Given the description of an element on the screen output the (x, y) to click on. 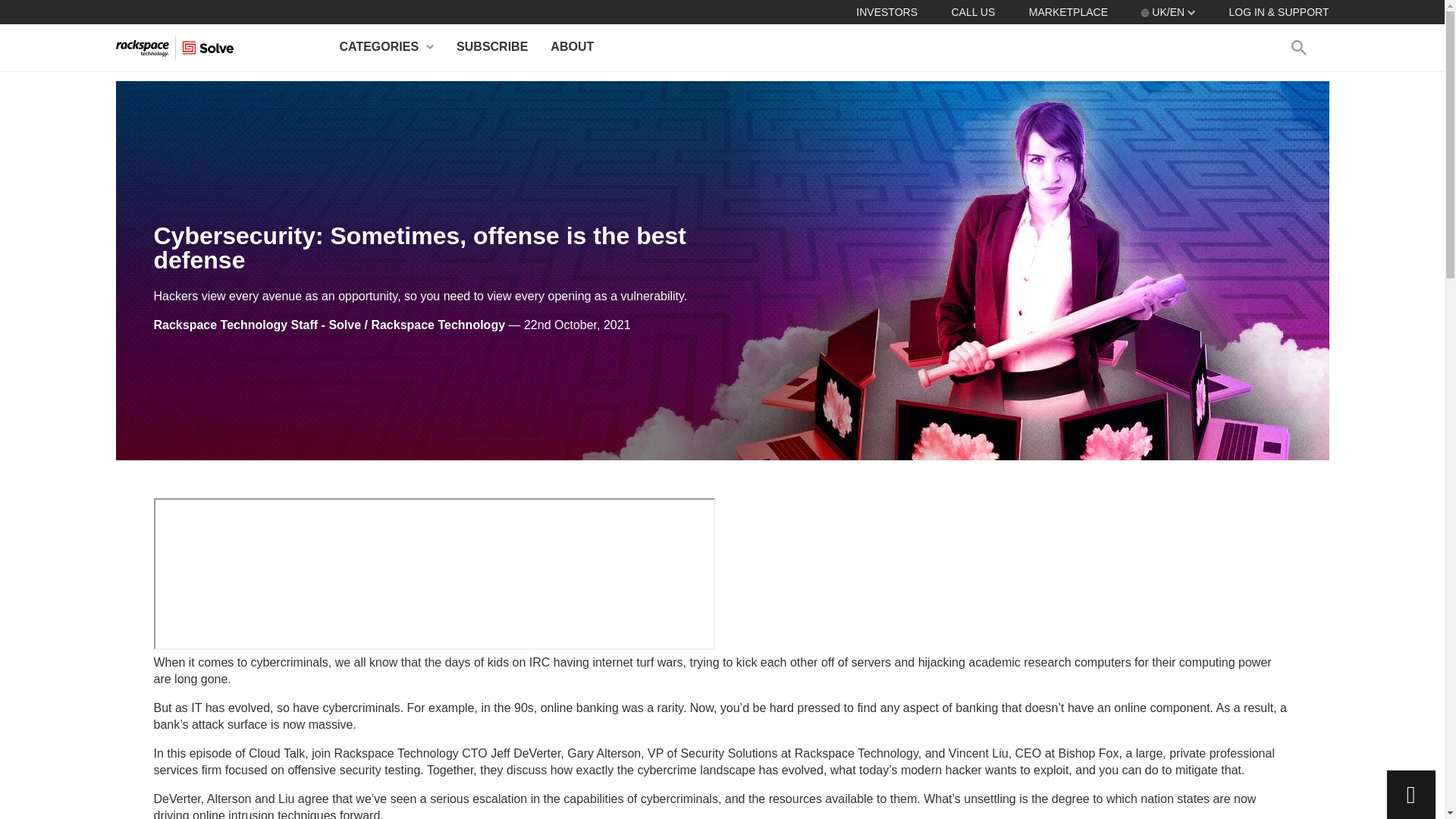
CALL US (972, 11)
CATEGORIES (386, 47)
MARKETPLACE (1068, 11)
ABOUT (571, 47)
SUBSCRIBE (491, 47)
INVESTORS (886, 11)
